Given the description of an element on the screen output the (x, y) to click on. 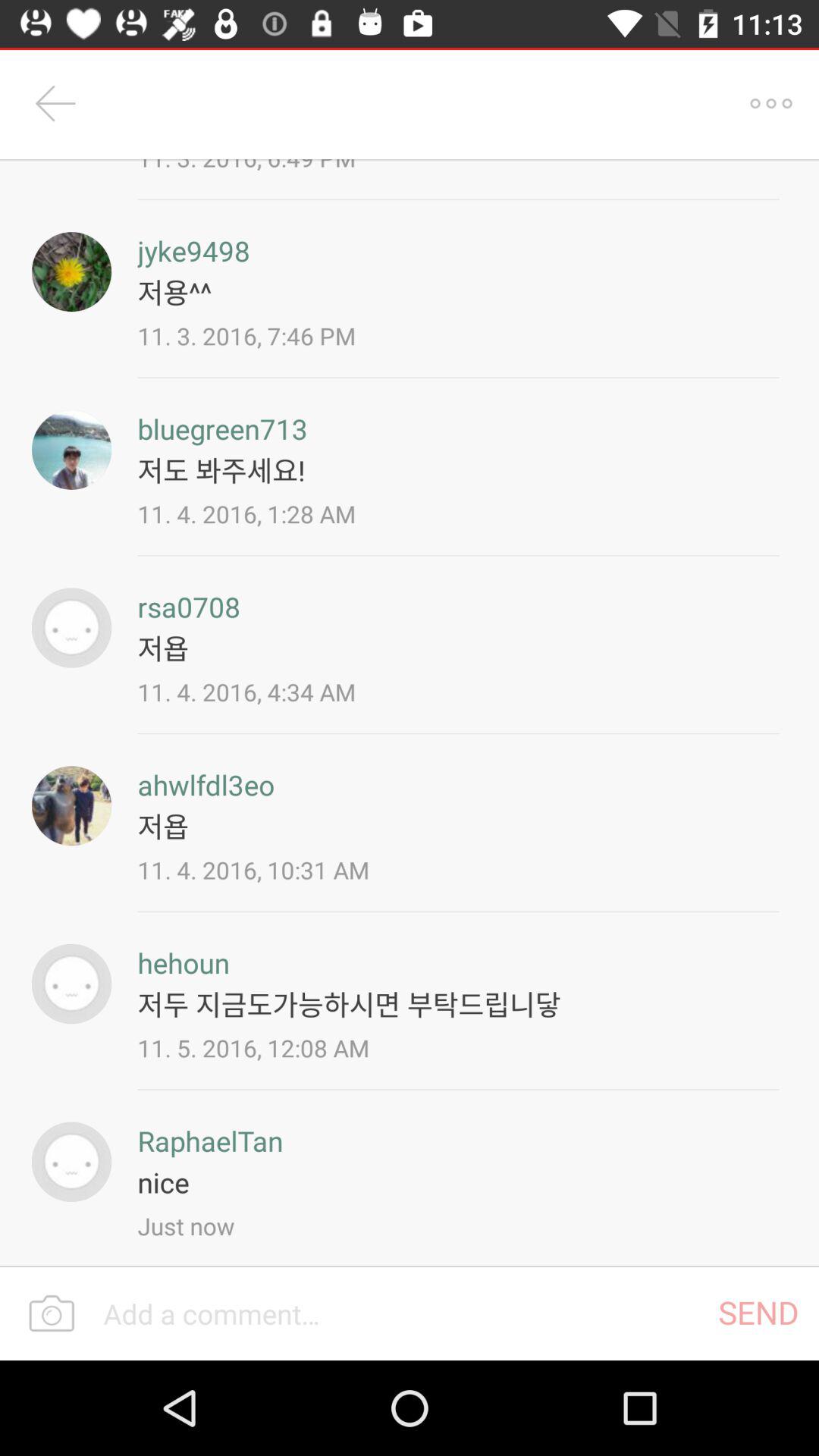
tap the item above nice (210, 1140)
